Given the description of an element on the screen output the (x, y) to click on. 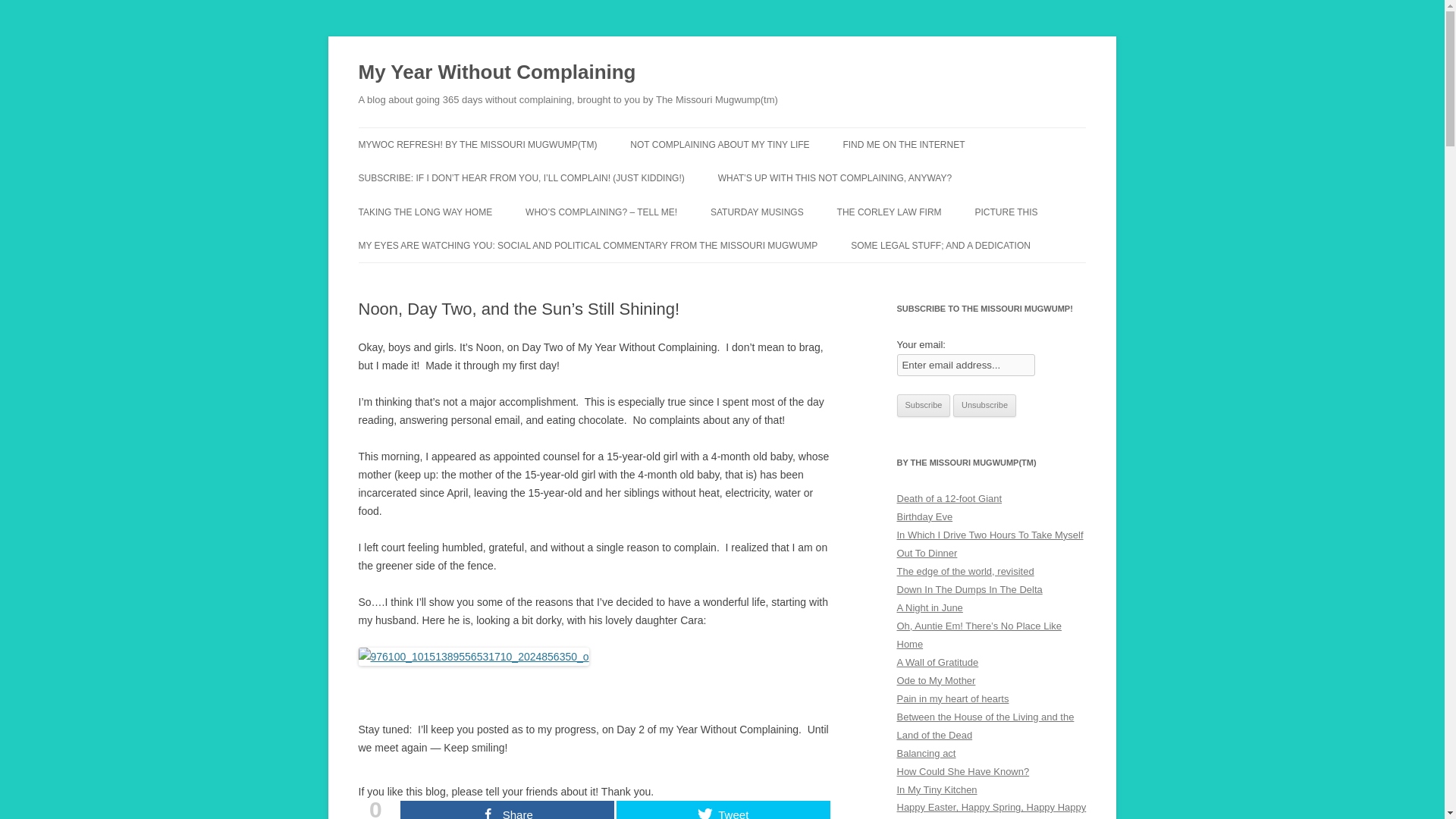
Tweet (722, 809)
NOT COMPLAINING ABOUT MY TINY LIFE (719, 144)
Balancing act (925, 753)
Share (507, 809)
Death of a 12-foot Giant (948, 498)
My Year Without Complaining (496, 72)
Subscribe (923, 404)
A Night in June (929, 607)
PICTURE THIS (1005, 212)
FIND ME ON THE INTERNET (903, 144)
Pain in my heart of hearts (952, 698)
Enter email address... (965, 364)
A Wall of Gratitude (937, 662)
In Which I Drive Two Hours To Take Myself Out To Dinner (989, 543)
